Given the description of an element on the screen output the (x, y) to click on. 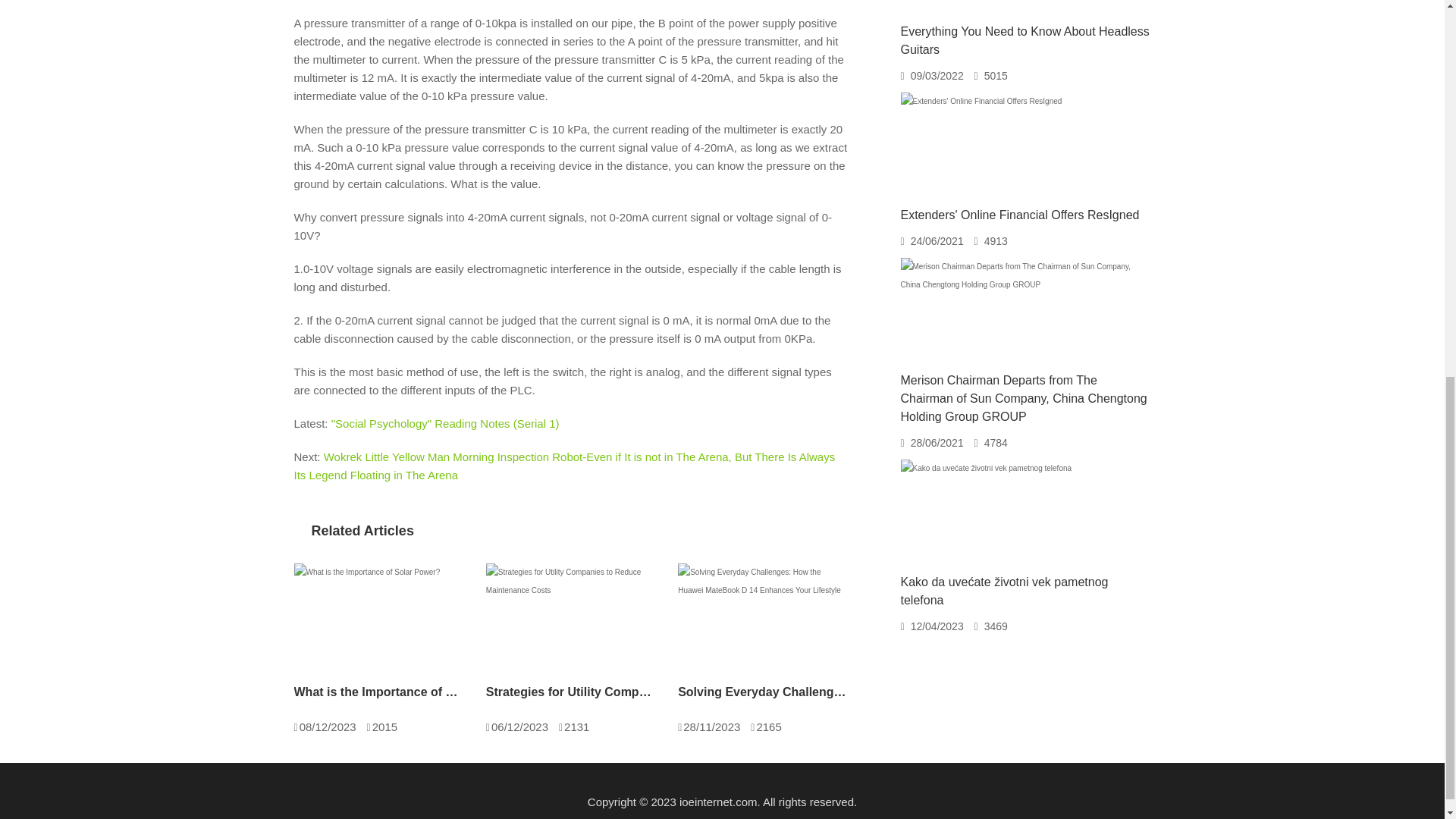
Strategies for Utility Companies to Reduce Maintenance Costs (570, 619)
What is the Importance of Solar Power? (367, 619)
Extenders' Online Financial Offers ResIgned (1020, 214)
What is the Importance of Solar Power? (378, 692)
Everything You Need to Know About Headless Guitars (1025, 40)
Strategies for Utility Companies to Reduce Maintenance Costs (570, 692)
What is the Importance of Solar Power? (378, 692)
Strategies for Utility Companies to Reduce Maintenance Costs (570, 692)
